Given the description of an element on the screen output the (x, y) to click on. 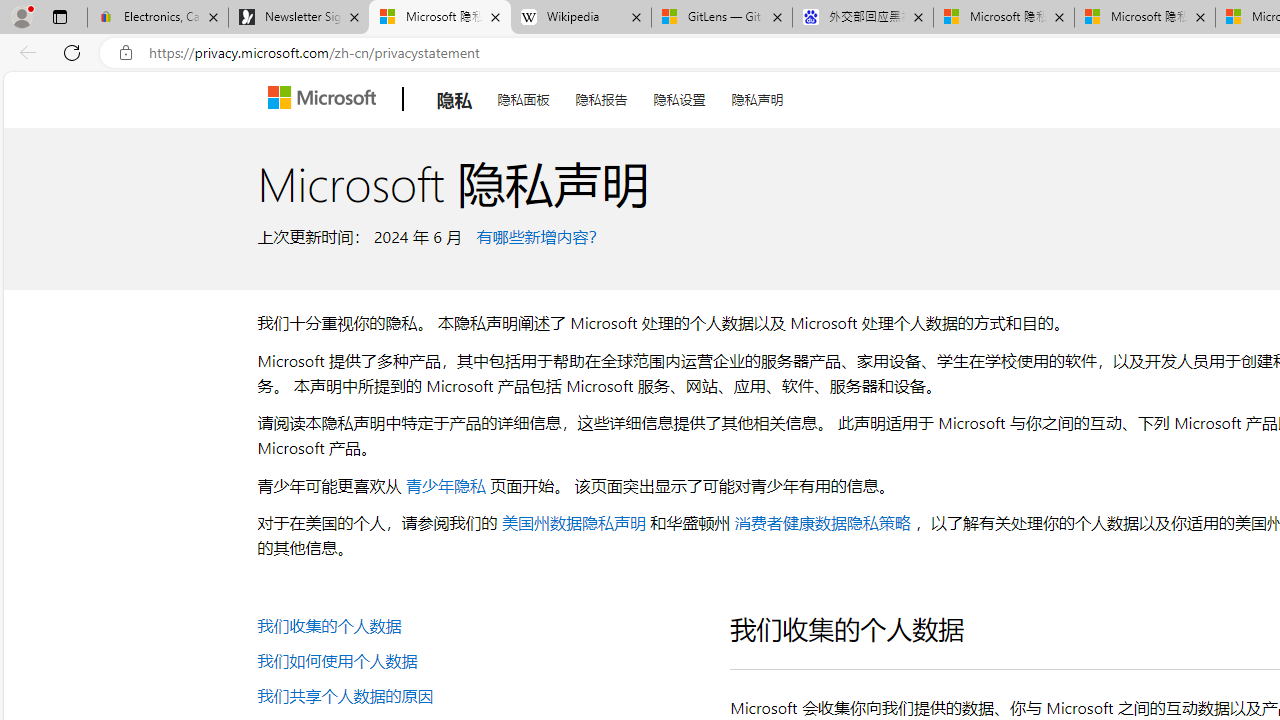
Electronics, Cars, Fashion, Collectibles & More | eBay (157, 17)
Microsoft (326, 99)
